Given the description of an element on the screen output the (x, y) to click on. 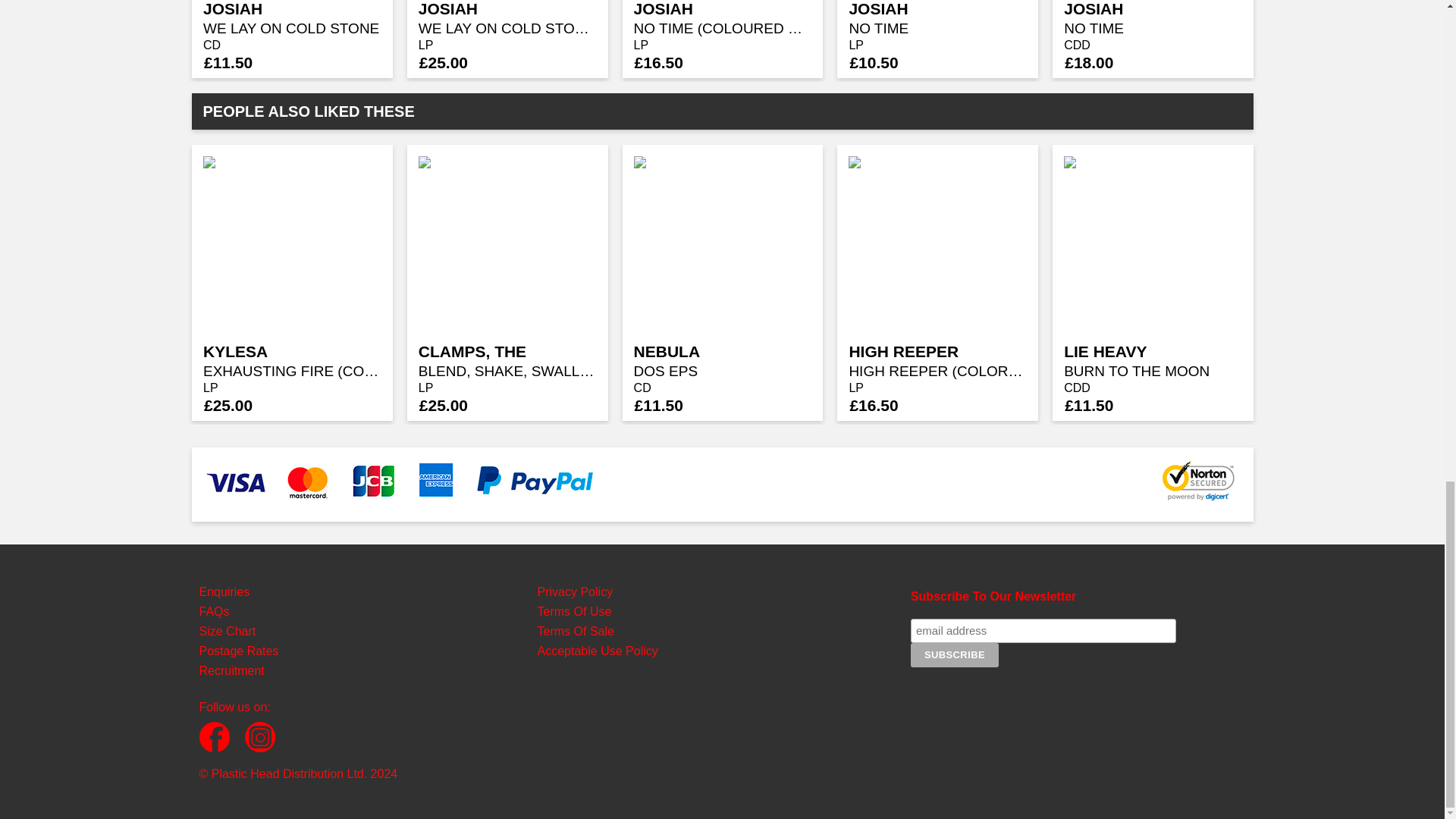
Subscribe (954, 654)
